Given the description of an element on the screen output the (x, y) to click on. 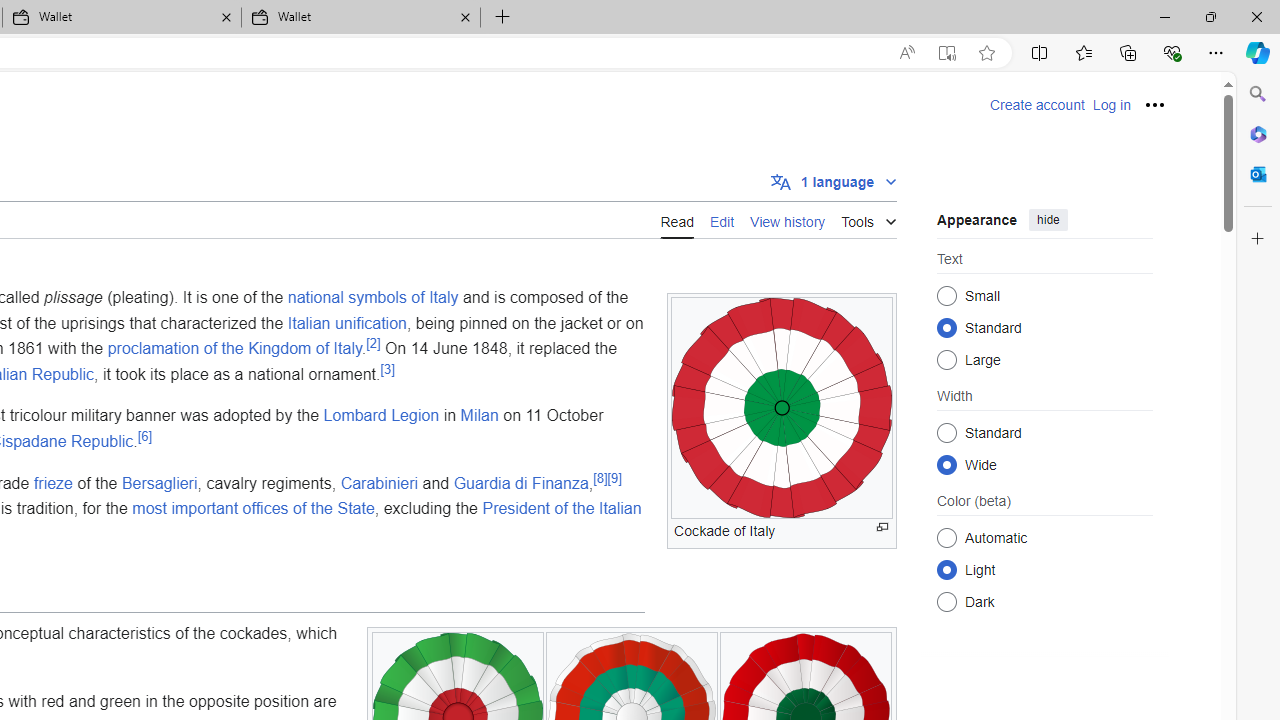
[9] (614, 478)
Class: mw-file-element (781, 407)
frieze (52, 482)
Read (676, 219)
Log in (1111, 105)
Dark (946, 601)
proclamation of the Kingdom of Italy (234, 348)
[6] (144, 435)
national symbols of Italy (372, 297)
